Given the description of an element on the screen output the (x, y) to click on. 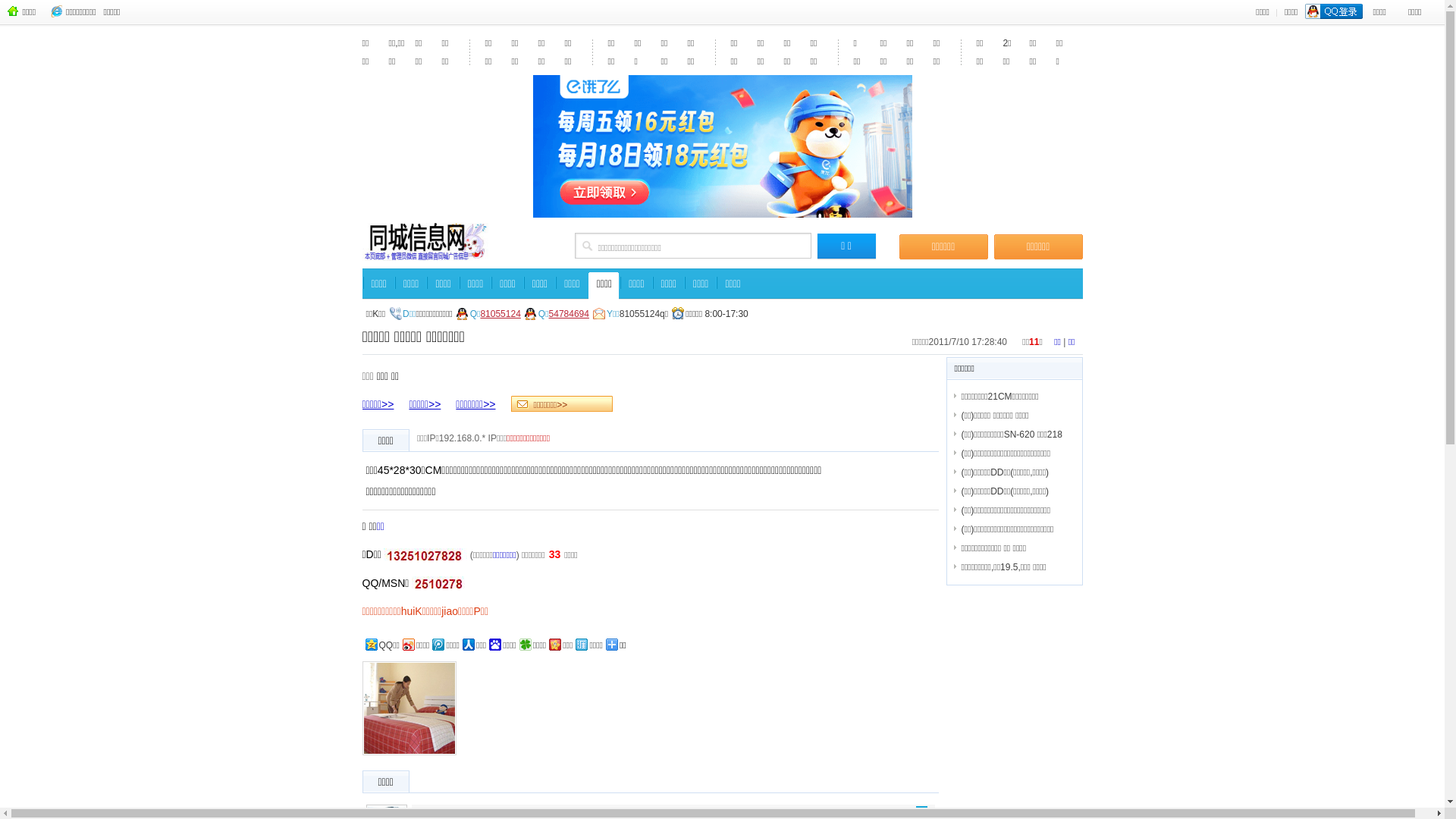
81055124 Element type: text (500, 313)
54784694 Element type: text (569, 313)
